Given the description of an element on the screen output the (x, y) to click on. 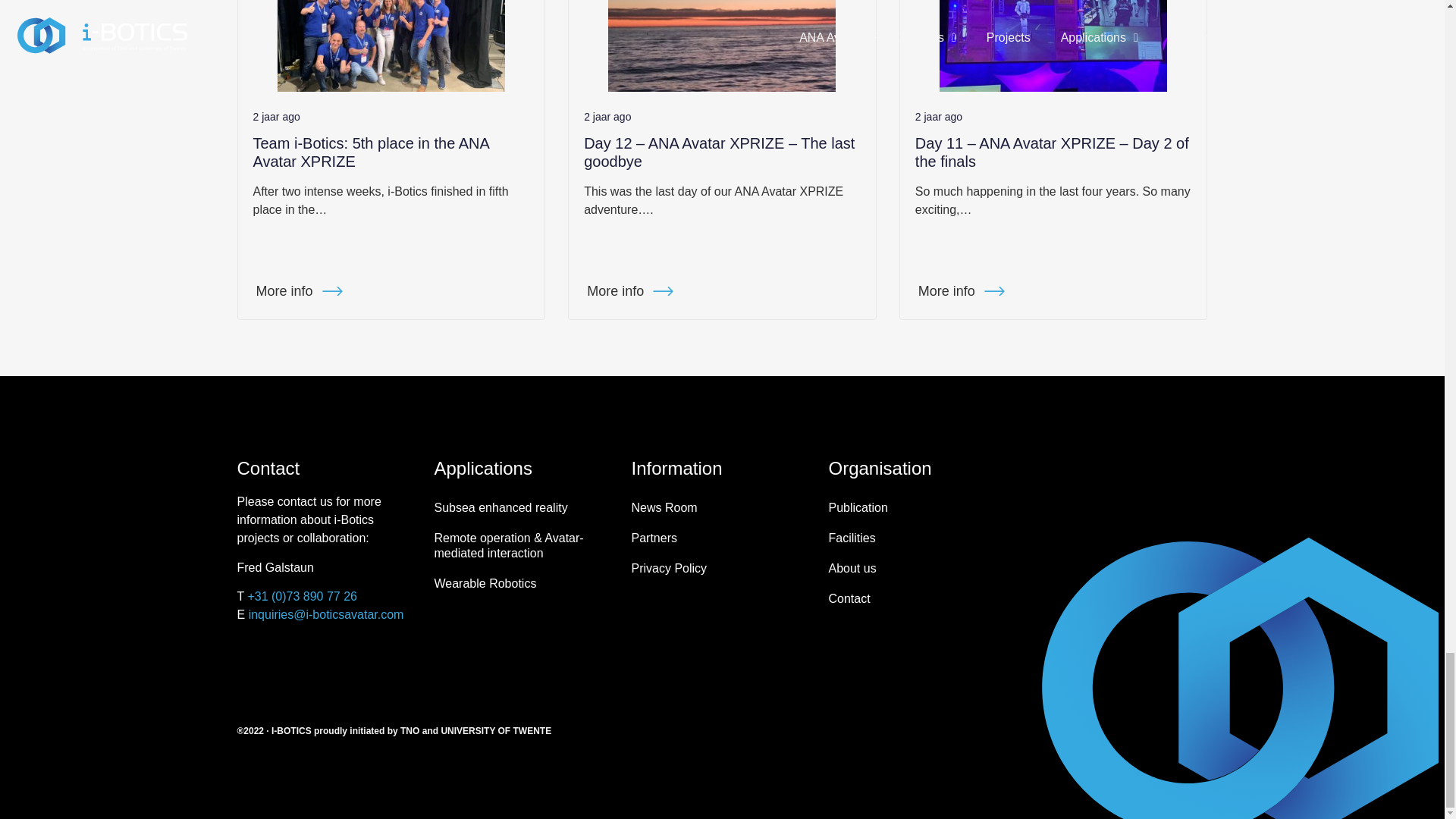
IMG-20221105-WA0005 (1053, 45)
